Given the description of an element on the screen output the (x, y) to click on. 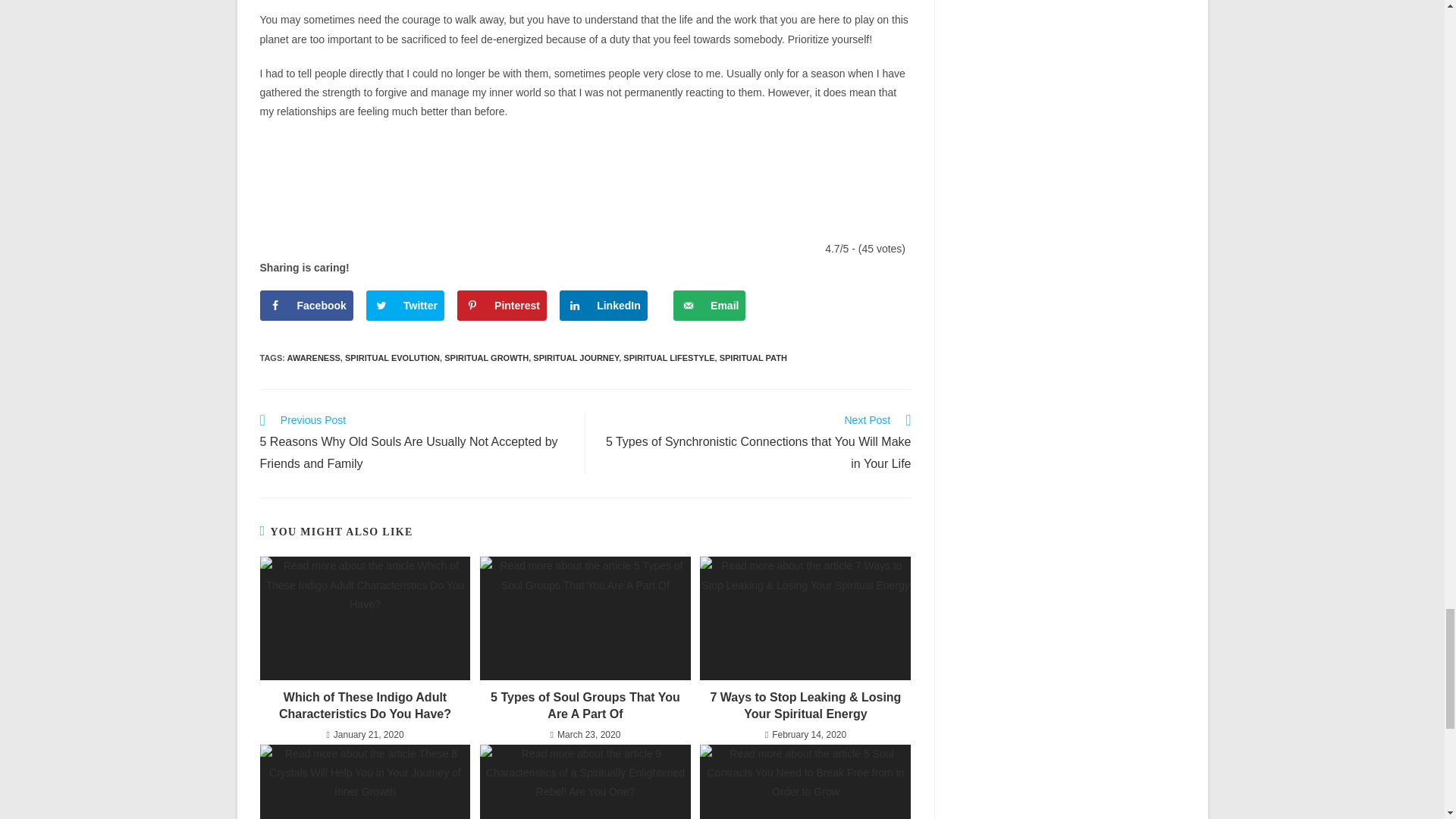
Share on Facebook (305, 305)
Save to Pinterest (502, 305)
Send over email (708, 305)
Share on Twitter (405, 305)
Share on LinkedIn (603, 305)
